Given the description of an element on the screen output the (x, y) to click on. 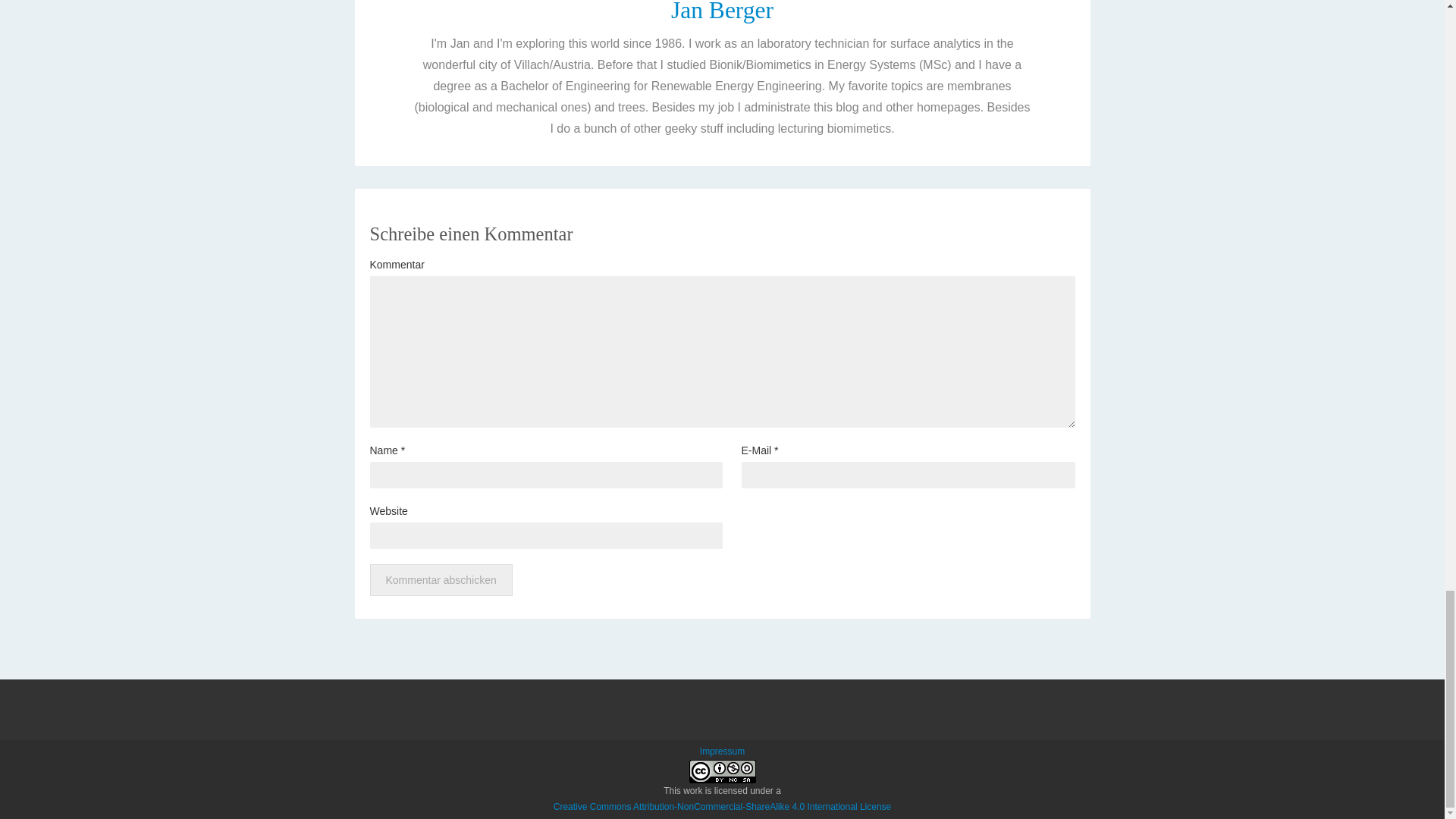
Impressum (722, 751)
Kommentar abschicken (440, 580)
Jan Berger (722, 11)
Kommentar abschicken (440, 580)
